Given the description of an element on the screen output the (x, y) to click on. 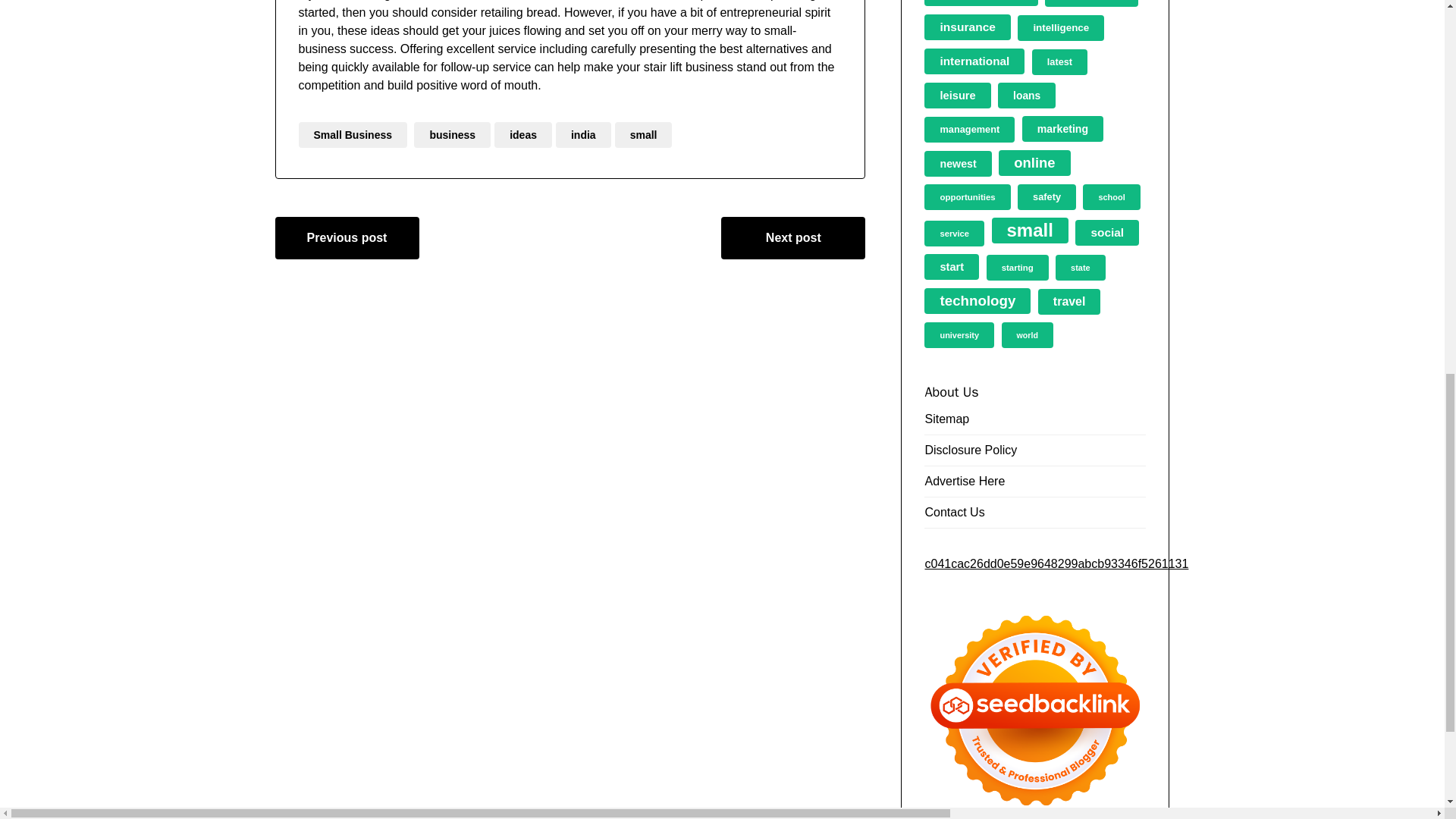
business (451, 135)
Small Business (352, 135)
ideas (523, 135)
small (643, 135)
india (583, 135)
Next post (792, 238)
Previous post (347, 238)
Seedbacklink (1034, 709)
